Given the description of an element on the screen output the (x, y) to click on. 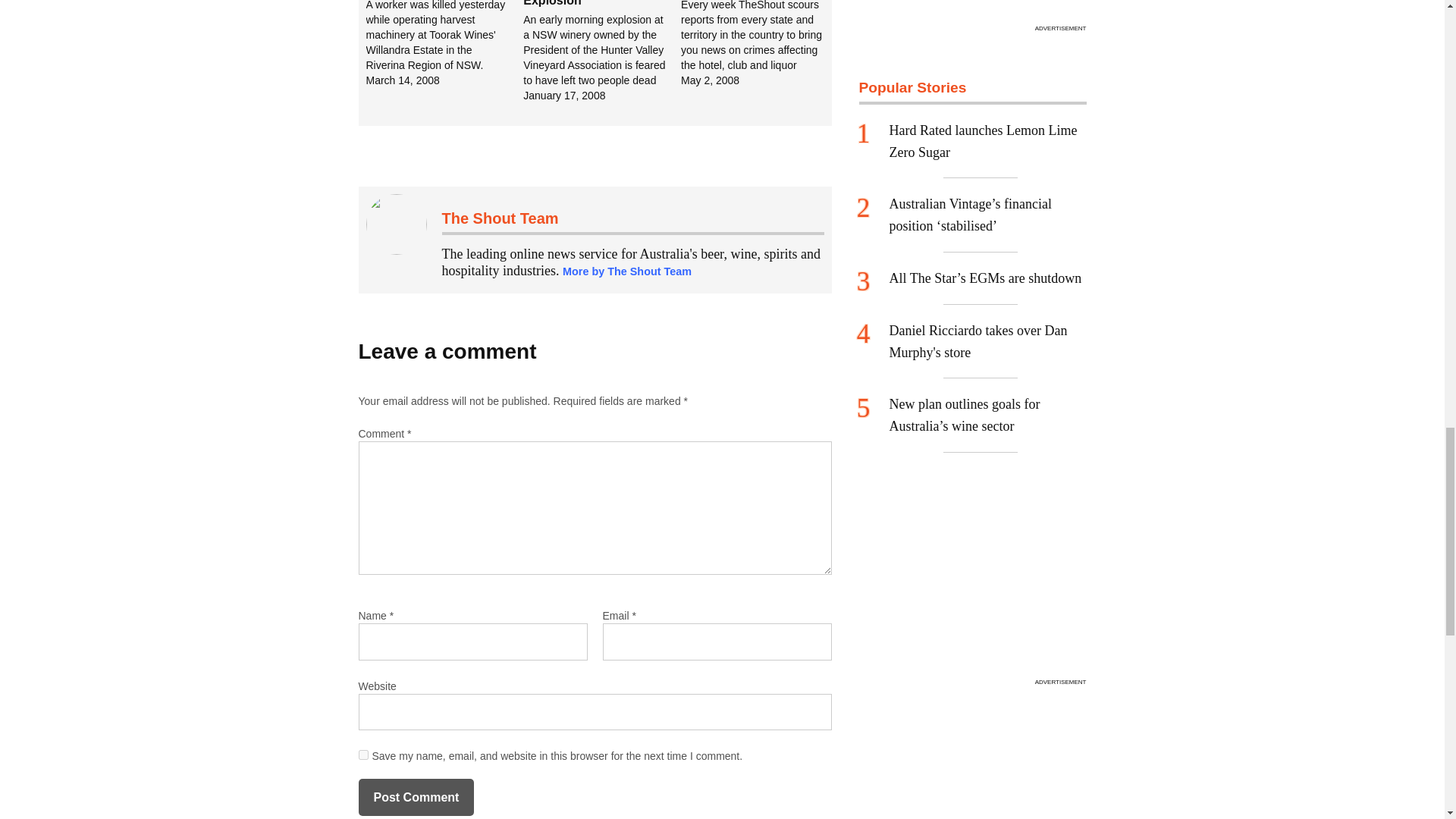
Worker Killed At NSW Vineyard (443, 43)
Post Comment (416, 797)
3rd party ad content (972, 9)
yes (363, 755)
The Week in Crime: May 2 (759, 43)
Two Reported Dead in Hunter Valley Vineyard Explosion (587, 3)
Two Reported Dead in Hunter Valley Vineyard Explosion (601, 51)
3rd party ad content (972, 577)
